Given the description of an element on the screen output the (x, y) to click on. 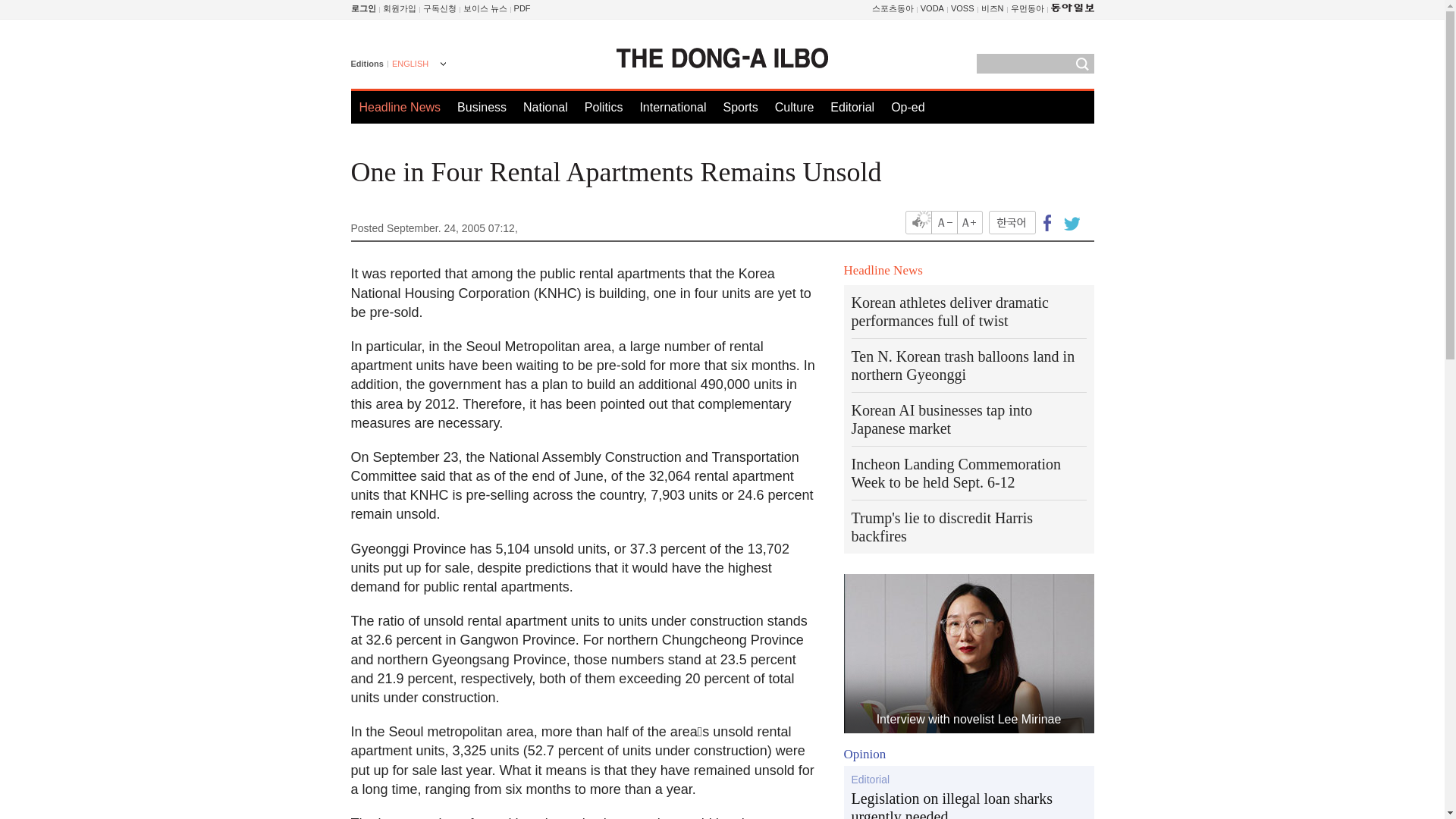
Editorial (852, 106)
Sports (739, 106)
VOICE (484, 8)
VODA (931, 8)
ENGLISH (416, 65)
BIZN (992, 8)
Share this article on Twitter (1069, 222)
International (672, 106)
PDF (522, 8)
Politics (604, 106)
